Given the description of an element on the screen output the (x, y) to click on. 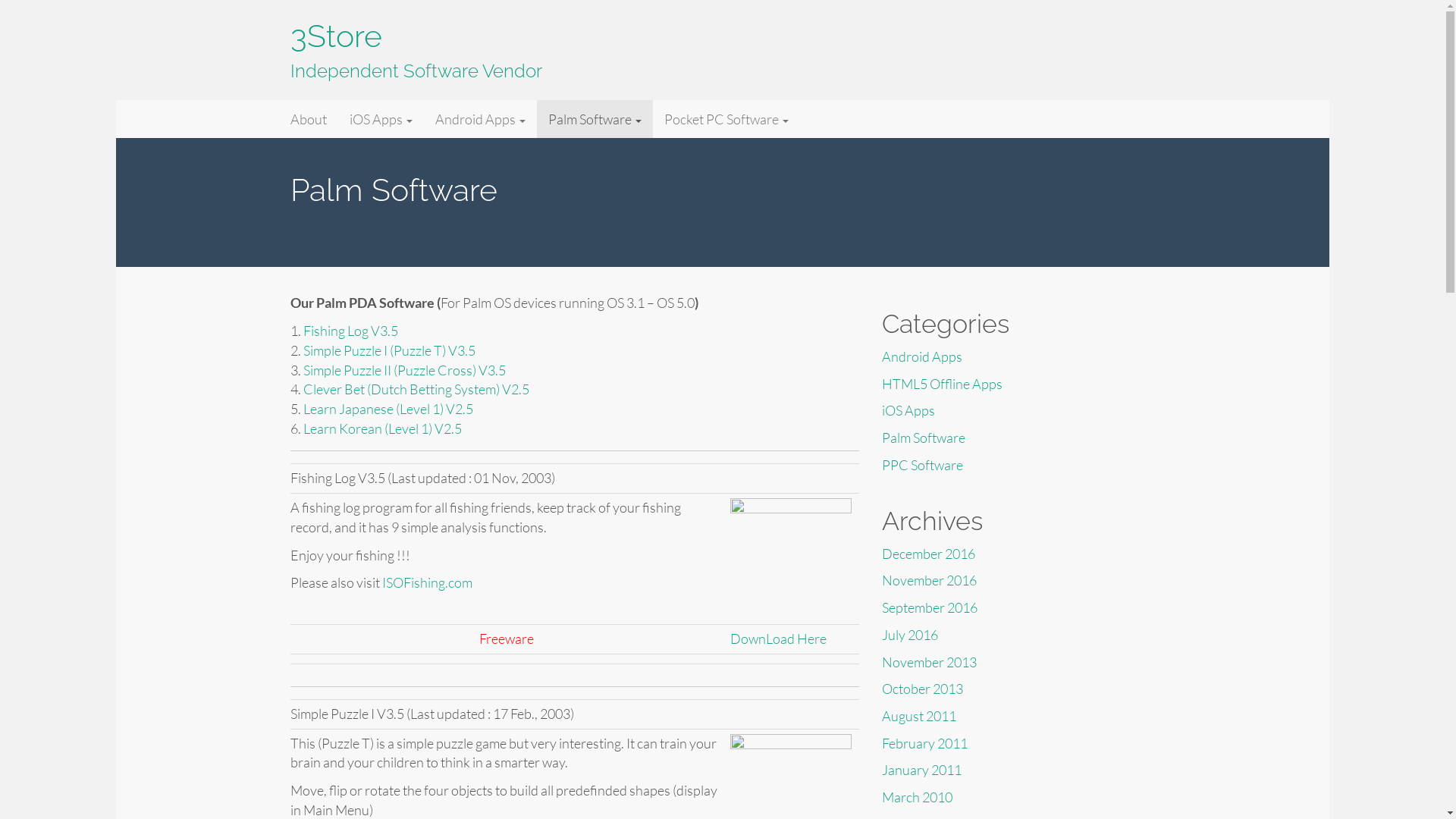
Simple Puzzle I (Puzzle T) V3.5 Element type: text (389, 350)
Palm Software Element type: text (922, 437)
Android Apps Element type: text (921, 356)
Palm Software Element type: text (594, 119)
iOS Apps Element type: text (907, 409)
3Store Element type: text (312, 119)
August 2011 Element type: text (918, 715)
Pocket PC Software Element type: text (725, 119)
About Element type: text (308, 119)
December 2016 Element type: text (927, 553)
Learn Korean (Level 1) V2.5 Element type: text (382, 428)
iOS Apps Element type: text (380, 119)
DownLoad Here Element type: text (777, 638)
Skip to content Element type: text (115, 99)
October 2013 Element type: text (921, 688)
September 2016 Element type: text (928, 607)
March 2010 Element type: text (916, 796)
November 2013 Element type: text (928, 661)
January 2011 Element type: text (920, 769)
February 2011 Element type: text (923, 742)
HTML5 Offline Apps Element type: text (941, 383)
Android Apps Element type: text (479, 119)
PPC Software Element type: text (921, 464)
July 2016 Element type: text (909, 634)
3Store Element type: text (335, 35)
November 2016 Element type: text (928, 579)
Learn Japanese (Level 1) V2.5 Element type: text (388, 408)
Clever Bet (Dutch Betting System) V2.5 Element type: text (416, 388)
ISOFishing.com Element type: text (427, 582)
Fishing Log V3.5 Element type: text (350, 330)
Simple Puzzle II (Puzzle Cross) V3.5 Element type: text (404, 369)
